Given the description of an element on the screen output the (x, y) to click on. 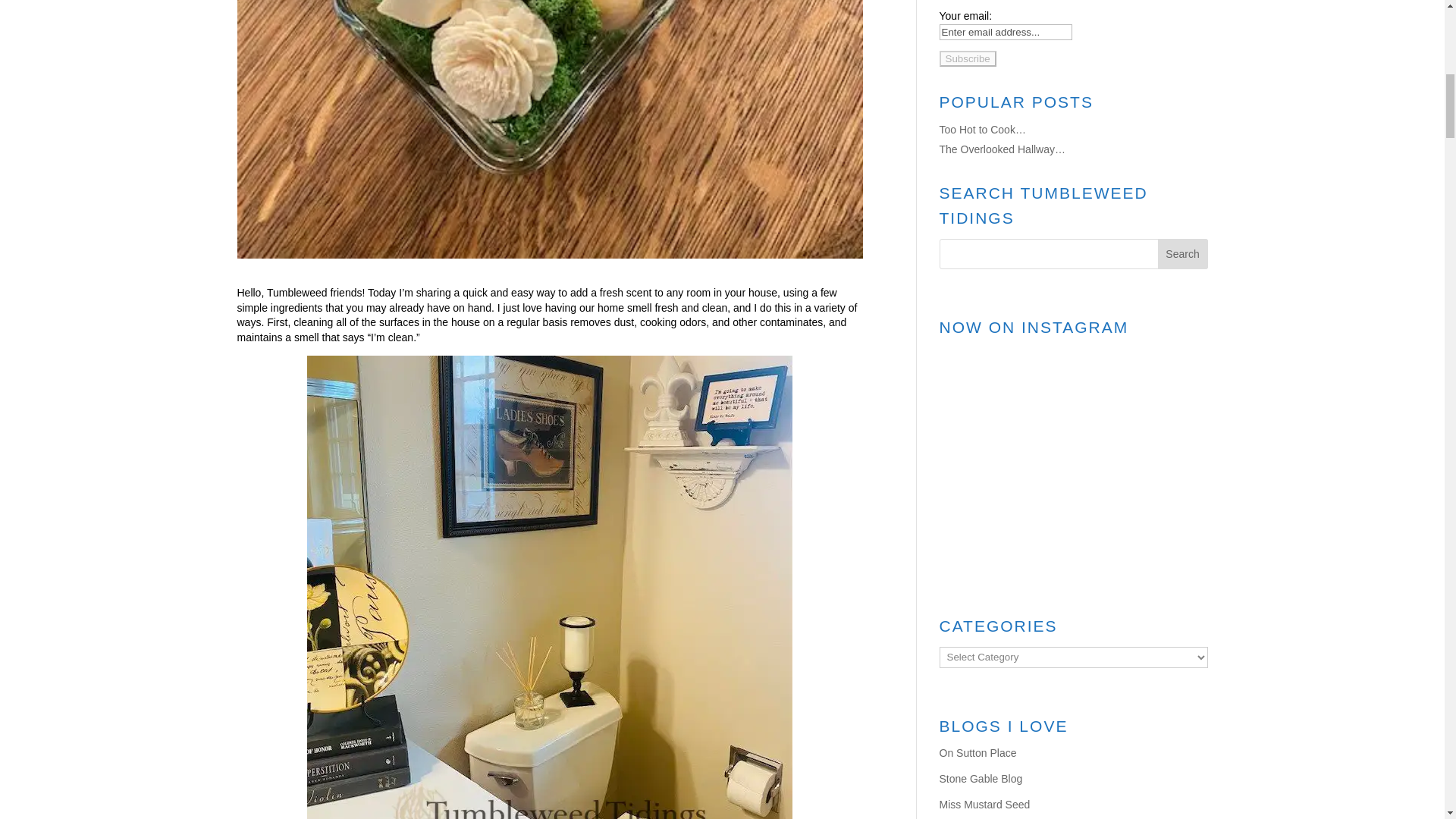
Search (1182, 254)
Search (1182, 254)
Subscribe (967, 58)
On Sutton Place (977, 752)
Miss Mustard Seed (984, 803)
Enter email address... (1005, 32)
Subscribe (967, 58)
Stone Gable Blog (980, 778)
